Given the description of an element on the screen output the (x, y) to click on. 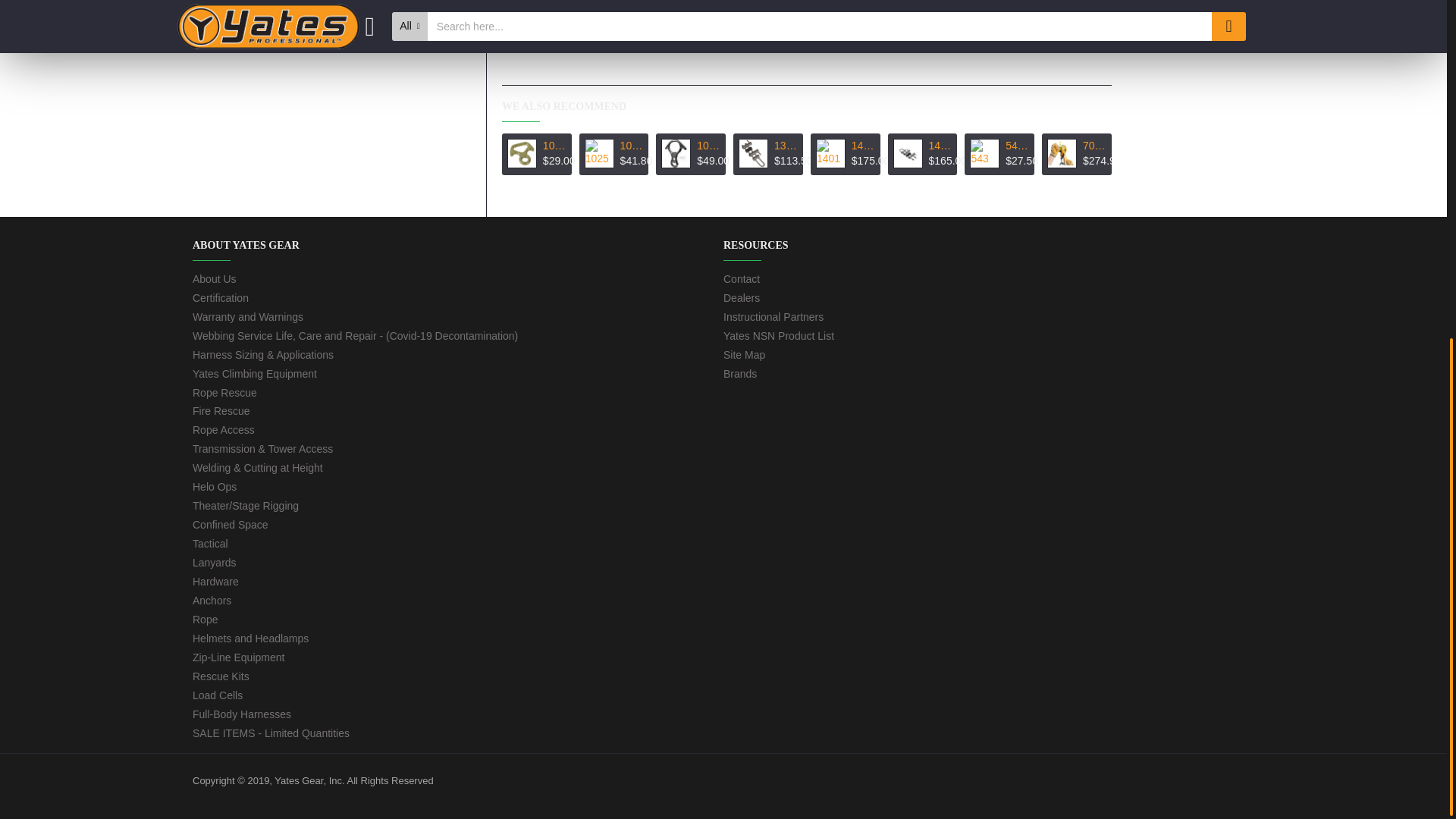
1026 ISC RP100 Large Aluminum 8 (675, 153)
1018 SMC Escape 8 (521, 153)
7018 Petzl RIG Descender - Gold (1061, 153)
1401 SMC Brake Rack (830, 153)
1025 ISC Figure 9 Anti-Twist Rescue Descender (599, 153)
543 Yates Harness Extension (983, 153)
1404 SMC 4 Bar U-Racks (908, 153)
13700 SMC 4 Bar Micro U-Rack (753, 153)
